Given the description of an element on the screen output the (x, y) to click on. 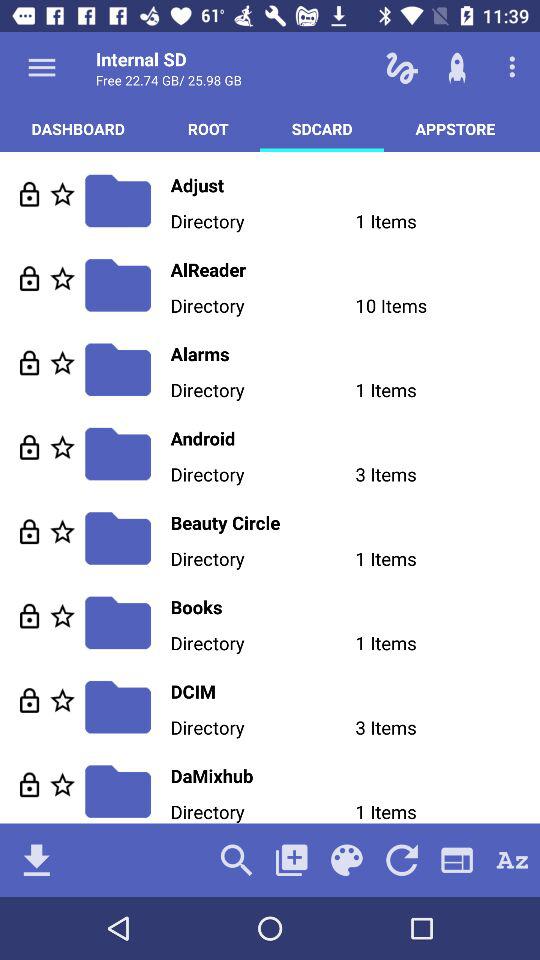
folder lock button (29, 362)
